Given the description of an element on the screen output the (x, y) to click on. 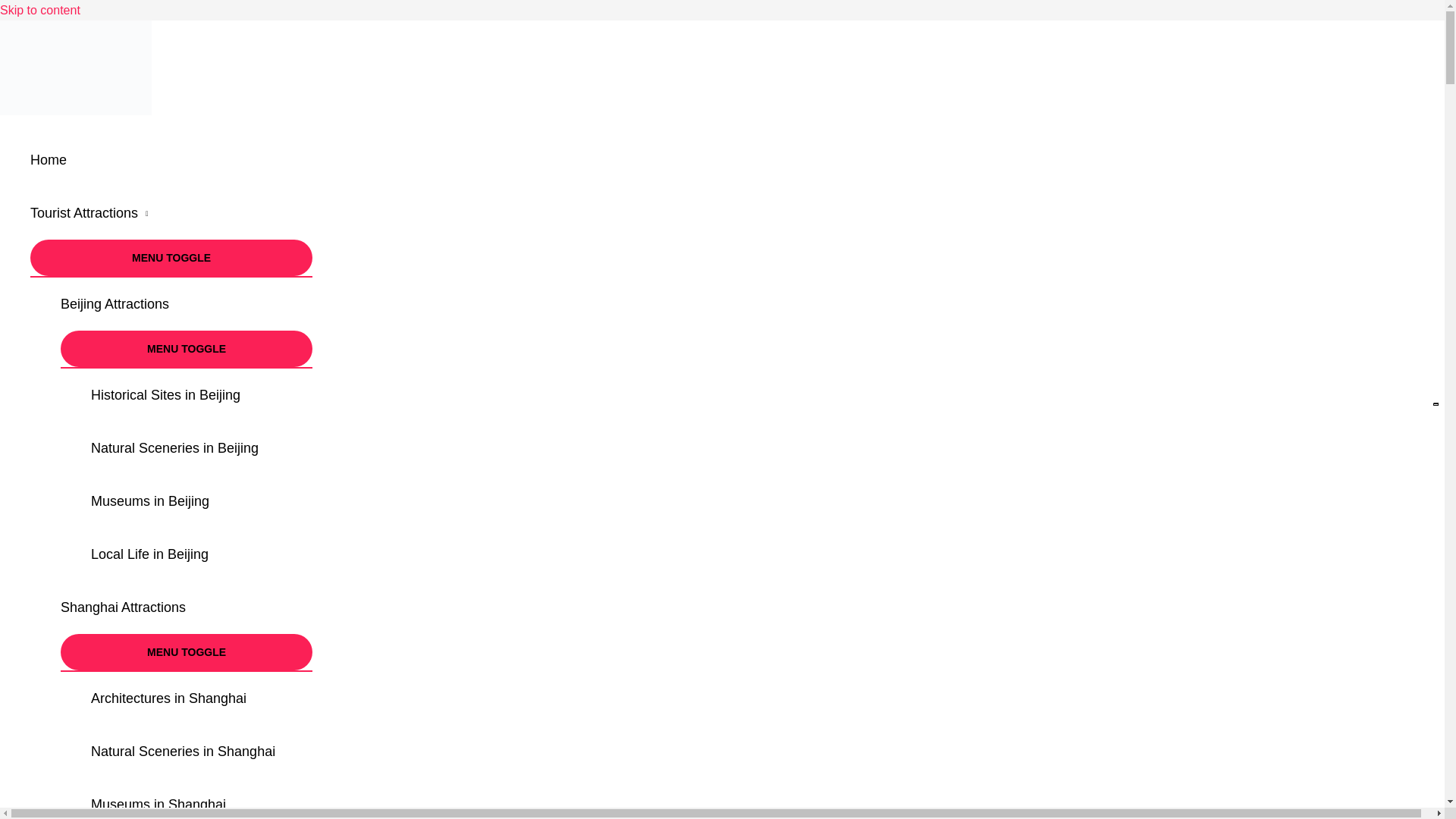
Historical Sites in Beijing (201, 394)
Museums in Shanghai (201, 798)
Tourist Attractions (171, 212)
Skip to content (40, 10)
MENU TOGGLE (187, 651)
Natural Sceneries in Shanghai (201, 751)
Beijing Attractions (187, 303)
Skip to content (40, 10)
Home (171, 159)
MENU TOGGLE (187, 348)
Local Life in Beijing (201, 553)
Museums in Beijing (201, 501)
MENU TOGGLE (171, 257)
Natural Sceneries in Beijing (201, 448)
Architectures in Shanghai (201, 697)
